Given the description of an element on the screen output the (x, y) to click on. 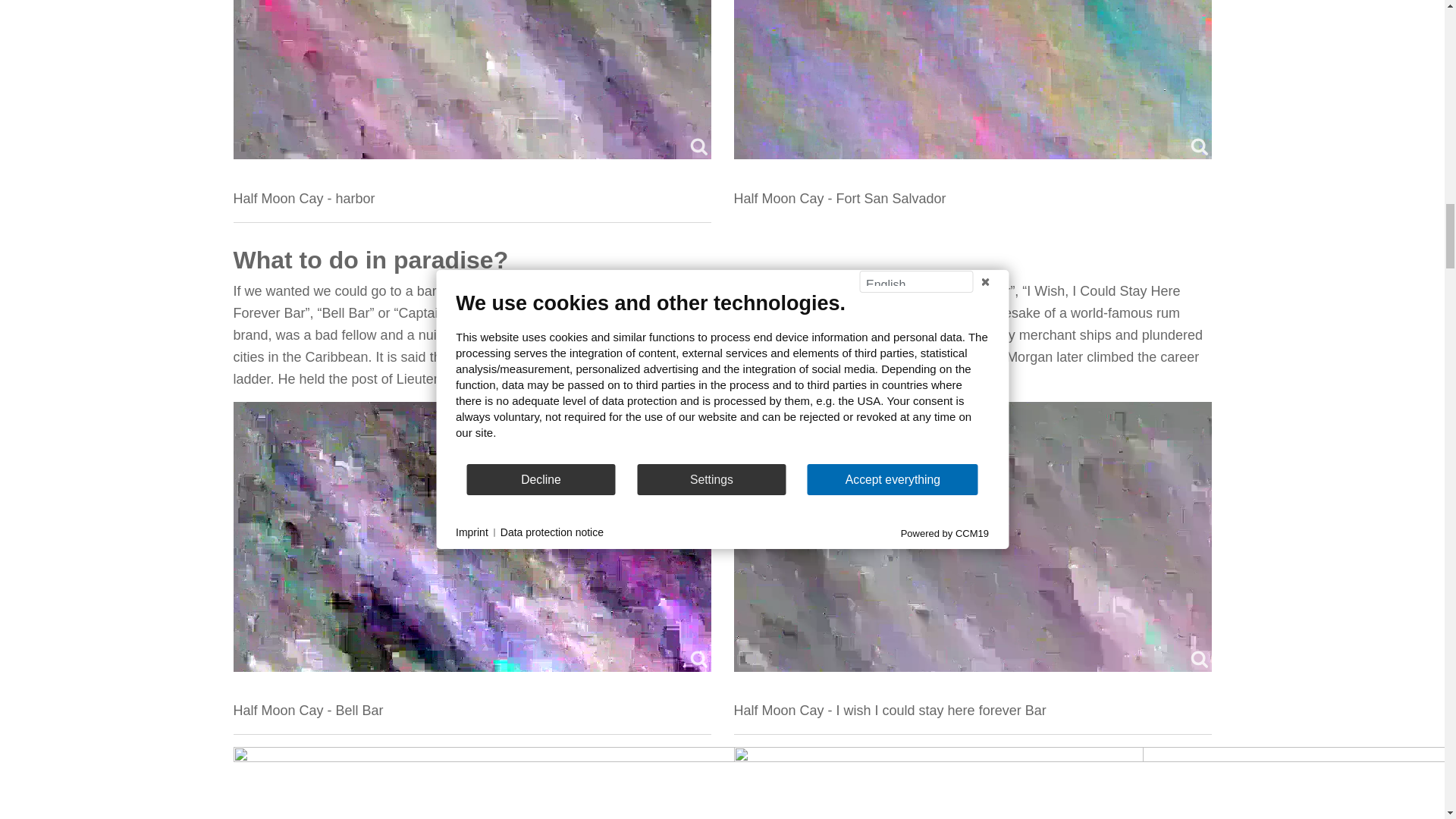
Half Moon Cay - I wish I could stay here forever Bar (972, 536)
Half Moon Cay - Captain Morgan's Bar (687, 782)
Half Moon Cay - Fort San Salvador (972, 79)
Half Moon Cay - harbor (471, 79)
Half Moon Cay - Bell Bar (471, 536)
